Given the description of an element on the screen output the (x, y) to click on. 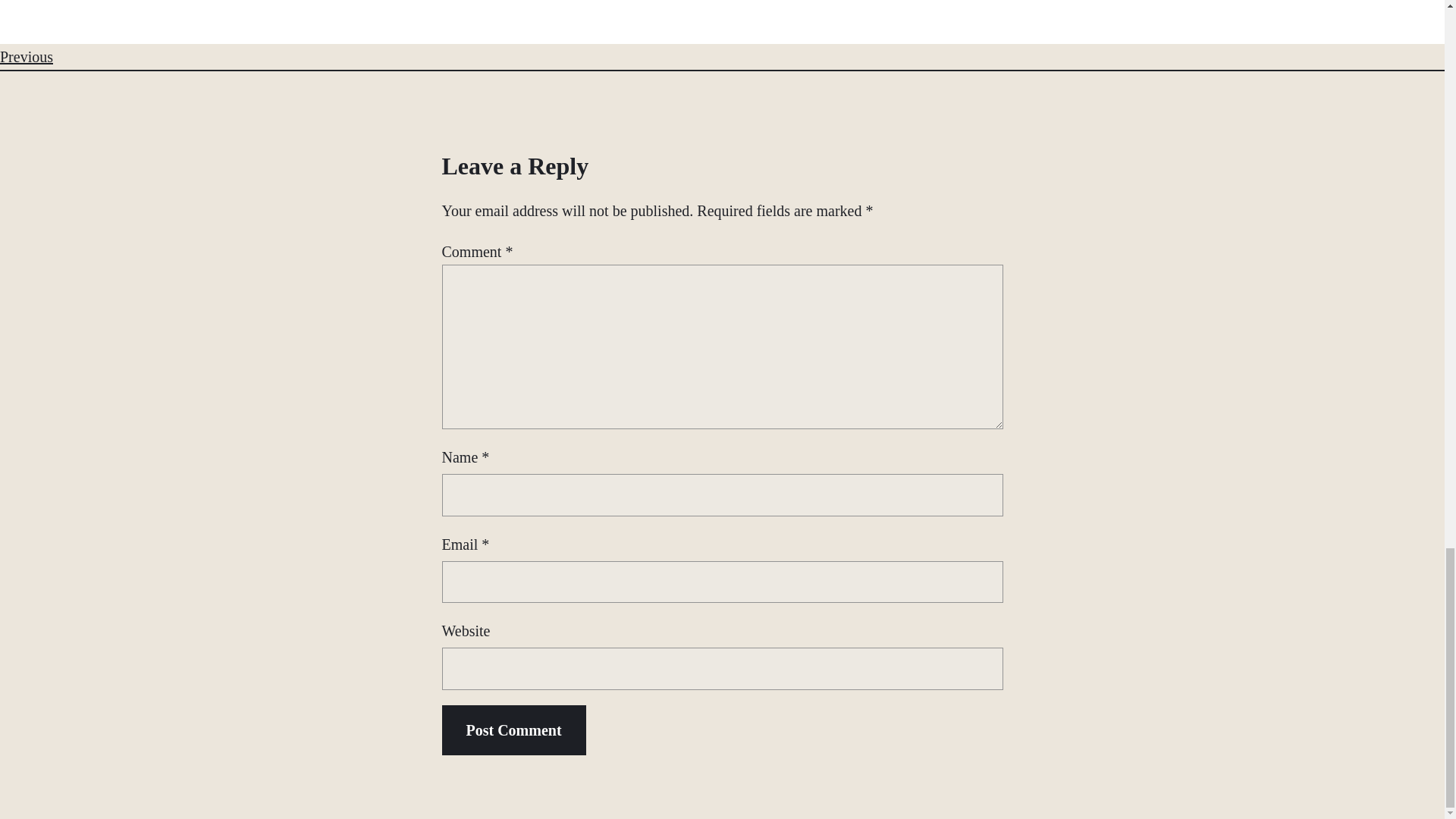
Post Comment (513, 730)
Previous (26, 56)
Post Comment (513, 730)
